Given the description of an element on the screen output the (x, y) to click on. 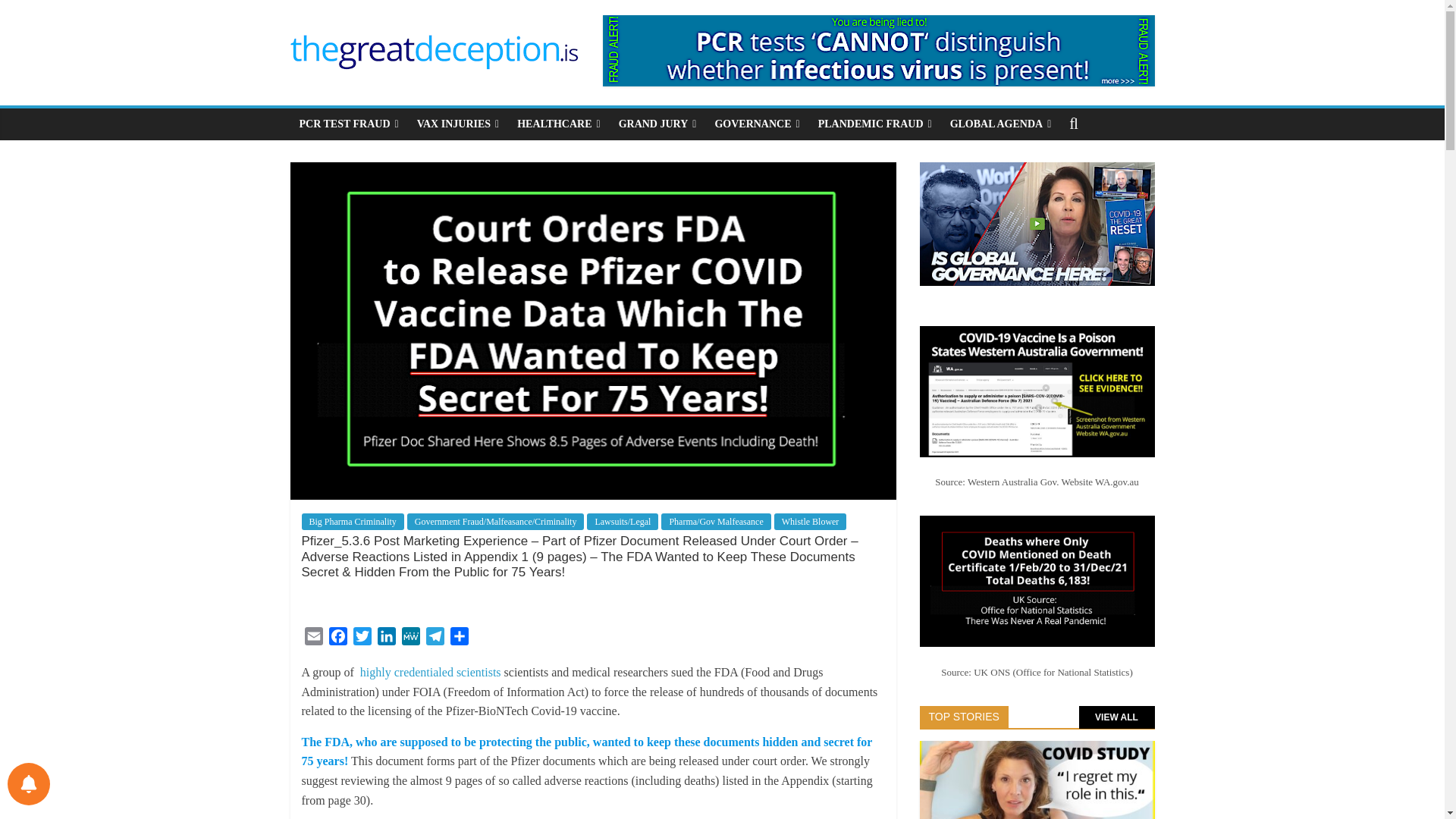
Facebook (338, 638)
MeWe (410, 638)
VAX INJURIES (457, 124)
PCR TEST FRAUD (348, 124)
GRAND JURY (658, 124)
Email (313, 638)
LinkedIn (386, 638)
Twitter (362, 638)
HEALTHCARE (558, 124)
Telegram (434, 638)
